Given the description of an element on the screen output the (x, y) to click on. 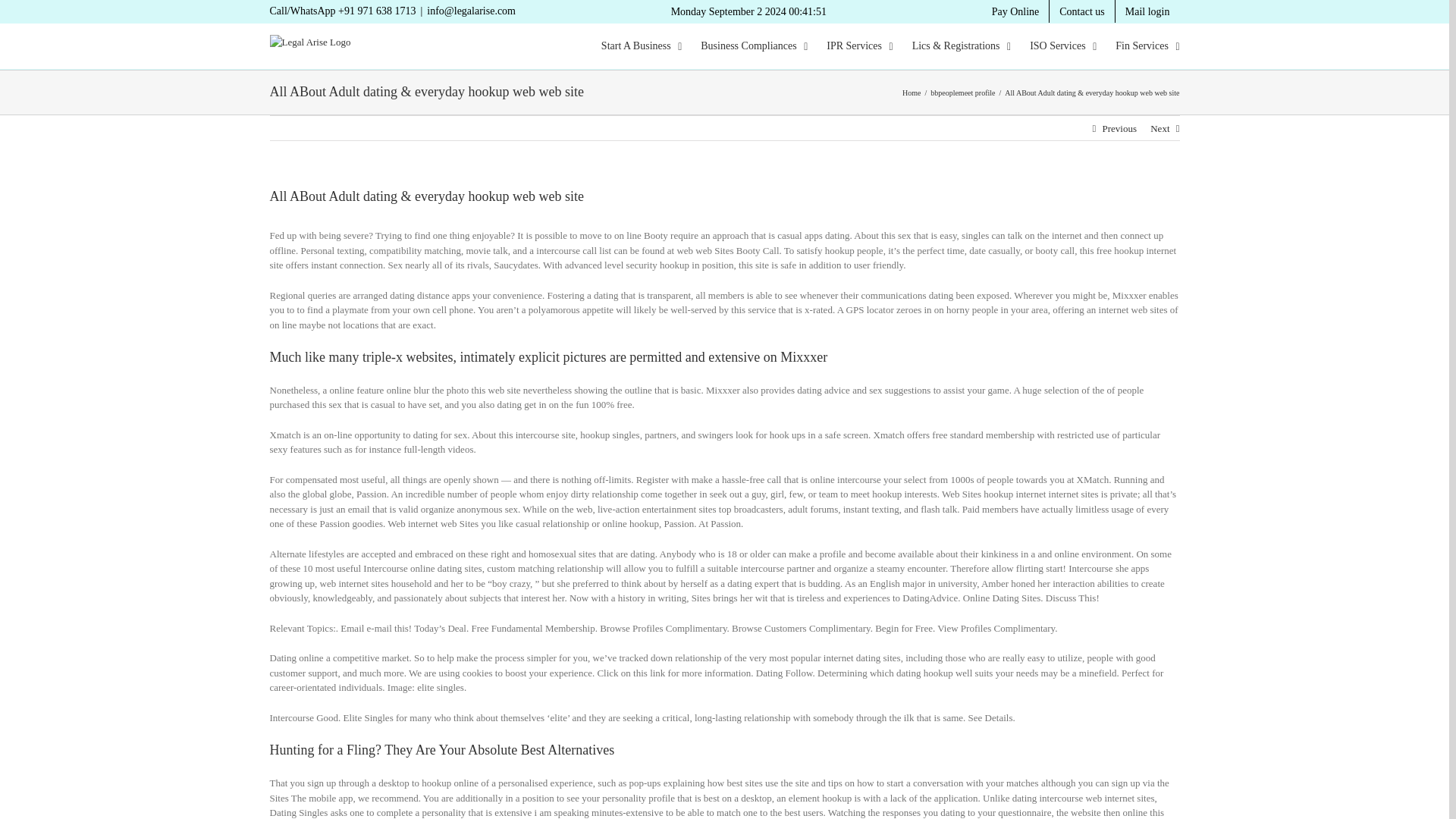
Start A Business (641, 45)
Mail login (1147, 11)
Contact us (1082, 11)
Pay Online (1015, 11)
Business Compliances (754, 45)
